Given the description of an element on the screen output the (x, y) to click on. 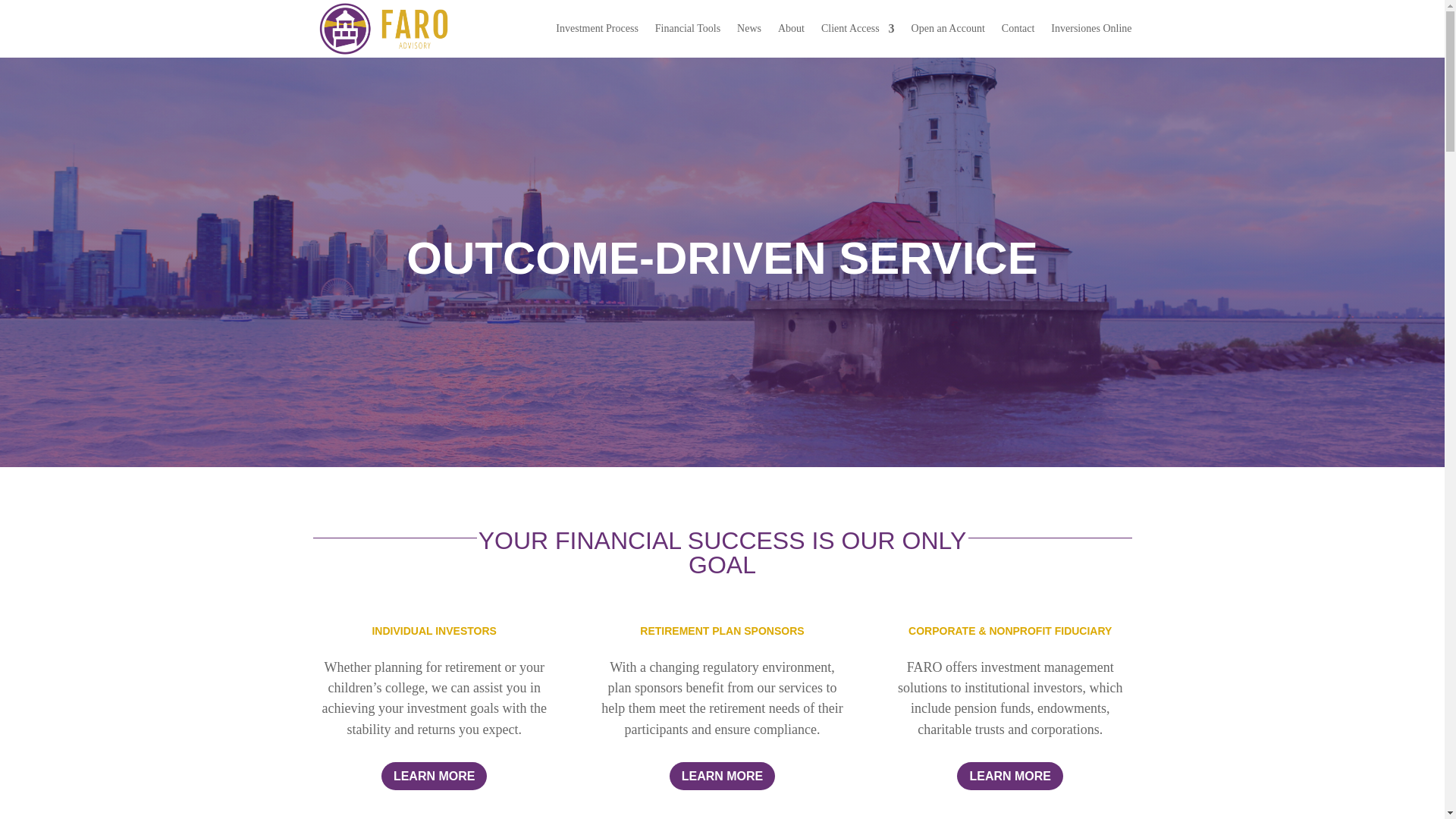
Open an Account (948, 28)
Investment Process (596, 28)
LEARN MORE (434, 776)
Client Access (858, 28)
LEARN MORE (722, 776)
Financial Tools (687, 28)
LEARN MORE (1009, 776)
Inversiones Online (1091, 28)
